Given the description of an element on the screen output the (x, y) to click on. 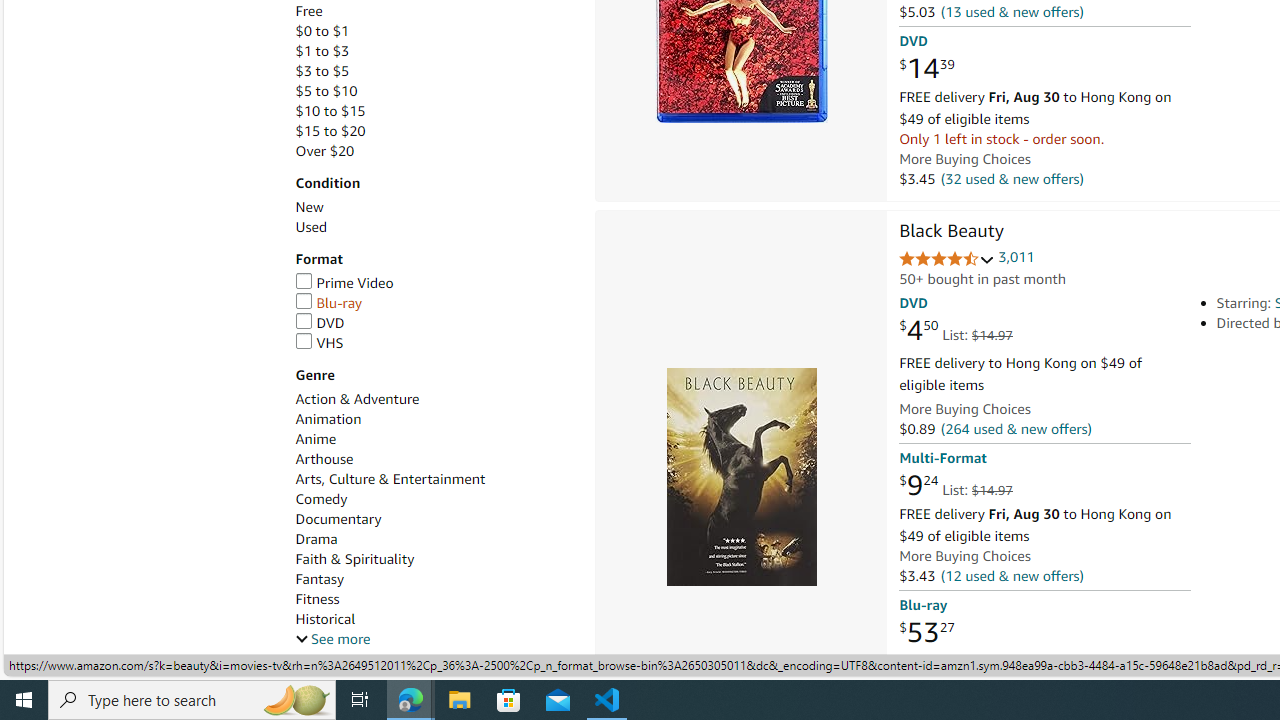
Go back to filtering menu (84, 651)
$5 to $10 (434, 91)
$3 to $5 (321, 70)
$15 to $20 (330, 131)
Fantasy (434, 579)
$0 to $1 (321, 31)
$15 to $20 (434, 131)
Fantasy (319, 579)
$1 to $3 (434, 51)
(32 used & new offers) (1011, 178)
(264 used & new offers) (1015, 429)
Historical (434, 619)
$0 to $1 (434, 31)
Animation (434, 419)
Skip to main search results (88, 651)
